Given the description of an element on the screen output the (x, y) to click on. 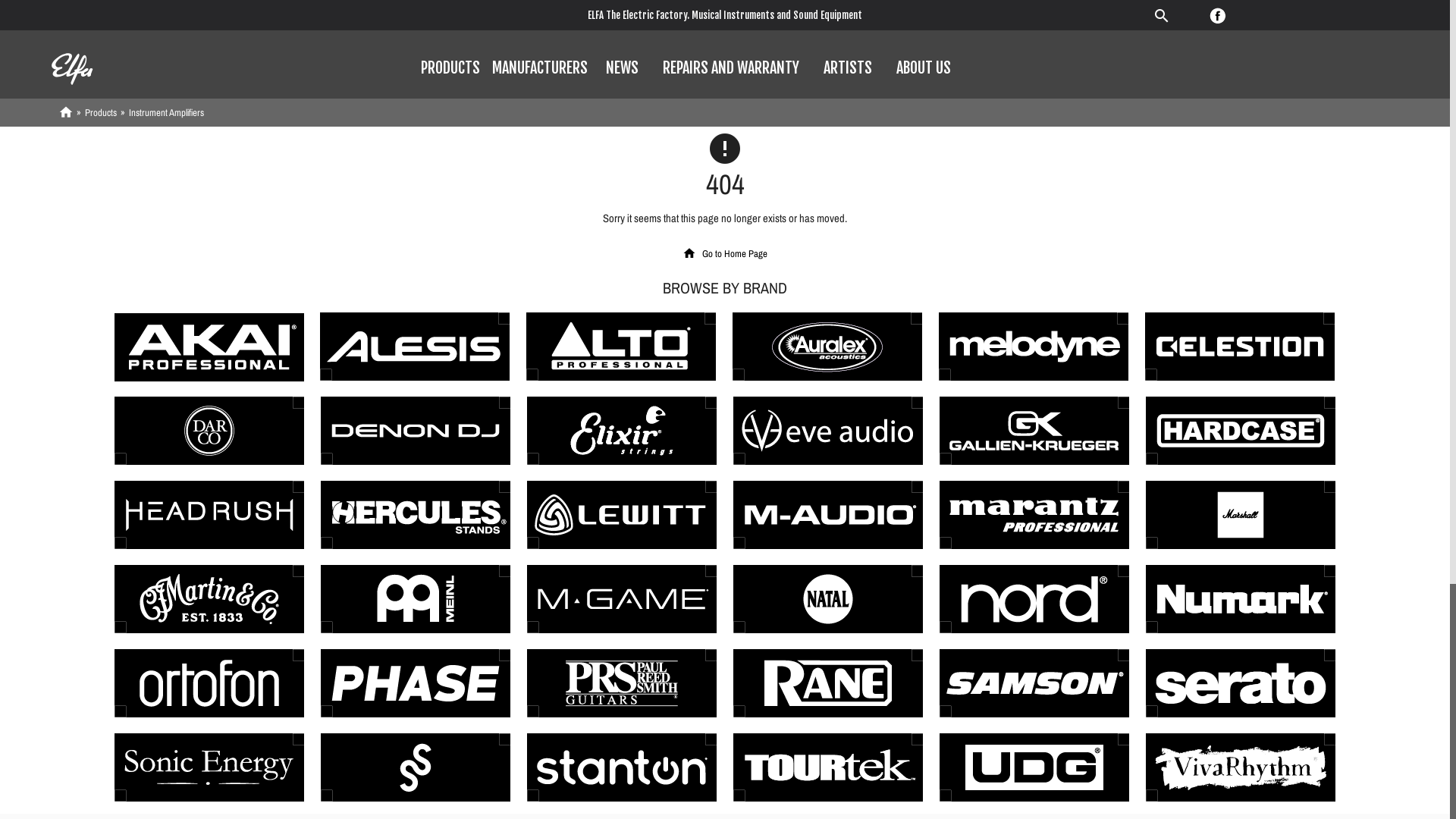
NEWS Element type: text (621, 67)
home
Go to Home Page Element type: text (724, 252)
Instrument Amplifiers Element type: text (165, 112)
MANUFACTURERS Element type: text (539, 67)
ABOUT US Element type: text (923, 67)
REPAIRS AND WARRANTY Element type: text (730, 67)
search Element type: text (1180, 14)
PRODUCTS Element type: text (450, 67)
home
Go to Home Page Element type: text (724, 252)
Products Element type: text (100, 112)
ARTISTS Element type: text (847, 67)
